Given the description of an element on the screen output the (x, y) to click on. 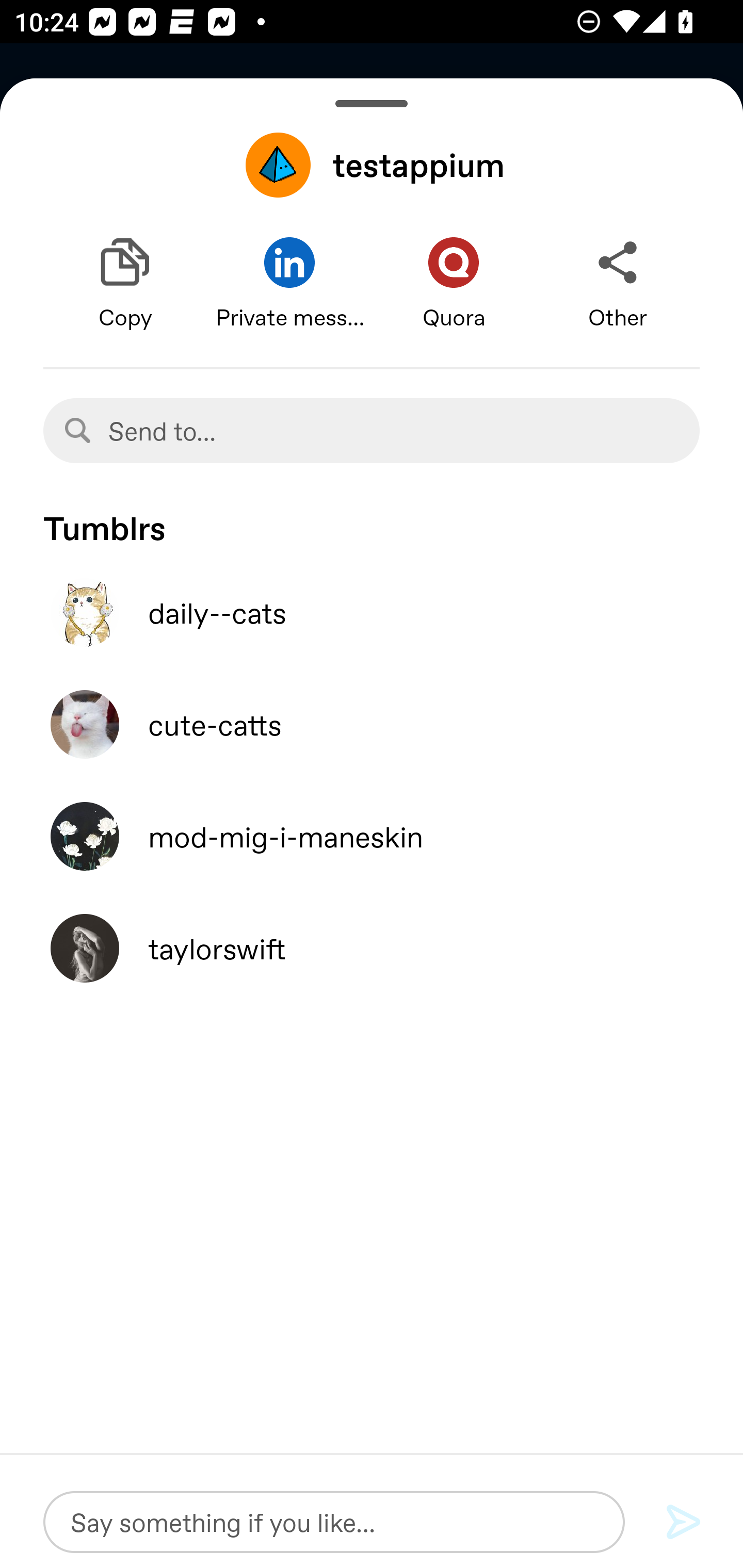
testappium (371, 164)
Copy (125, 284)
Private message (289, 284)
Quora (453, 284)
Other (617, 284)
Send to… (371, 430)
Tumblrs (371, 518)
daily--cats (371, 611)
cute-catts (371, 723)
mod-mig-i-maneskin (371, 836)
taylorswift (371, 947)
Send (683, 1522)
Say something if you like… (333, 1521)
